Given the description of an element on the screen output the (x, y) to click on. 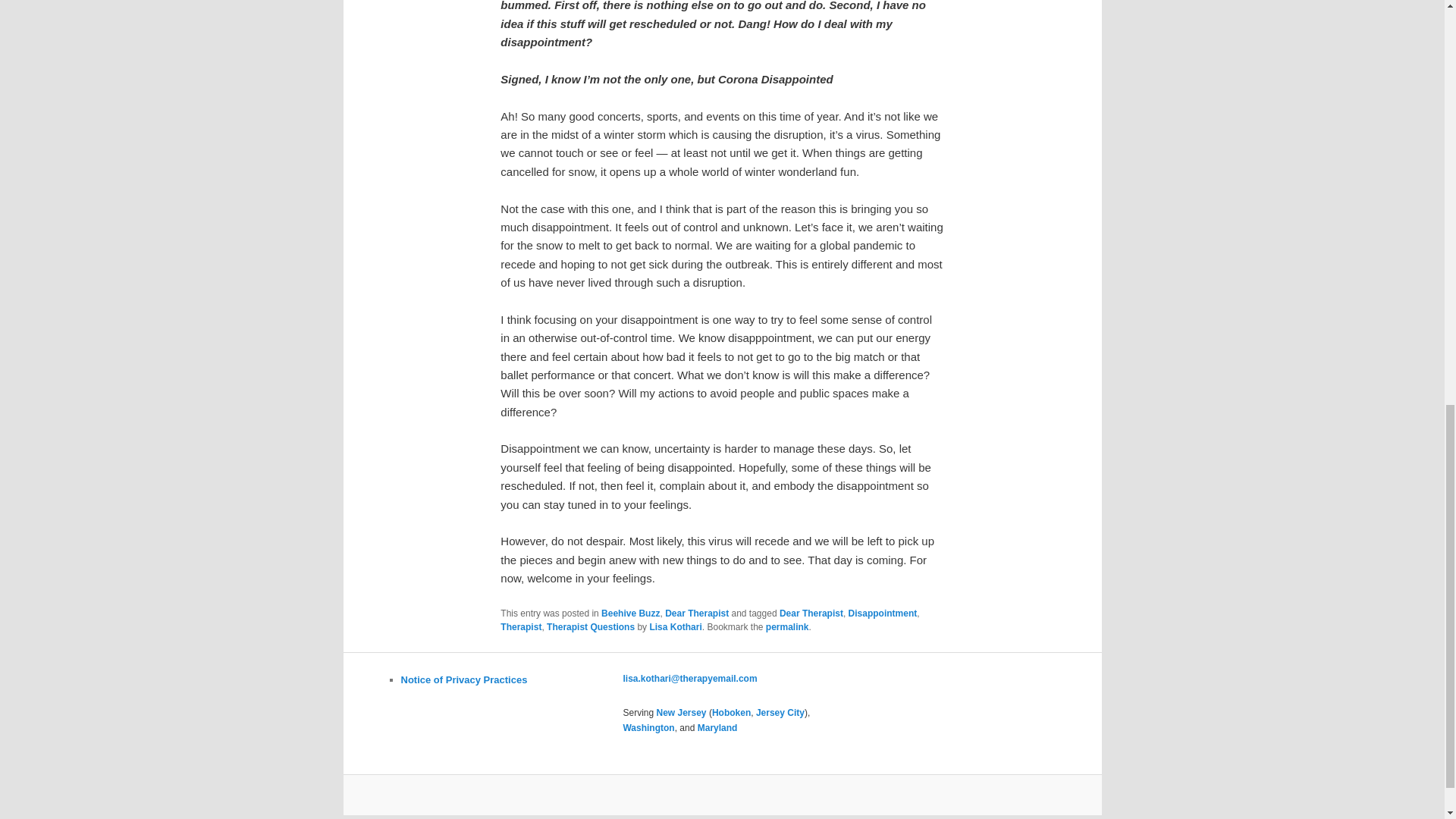
Permalink to Dear Therapist: Dealing with Disappointment (787, 626)
Disappointment (882, 613)
permalink (787, 626)
Dear Therapist (697, 613)
Beehive Buzz (630, 613)
Therapist (520, 626)
Lisa Kothari (675, 626)
Jersey City (780, 712)
Notice of Privacy Practices (463, 679)
Hoboken (731, 712)
